Given the description of an element on the screen output the (x, y) to click on. 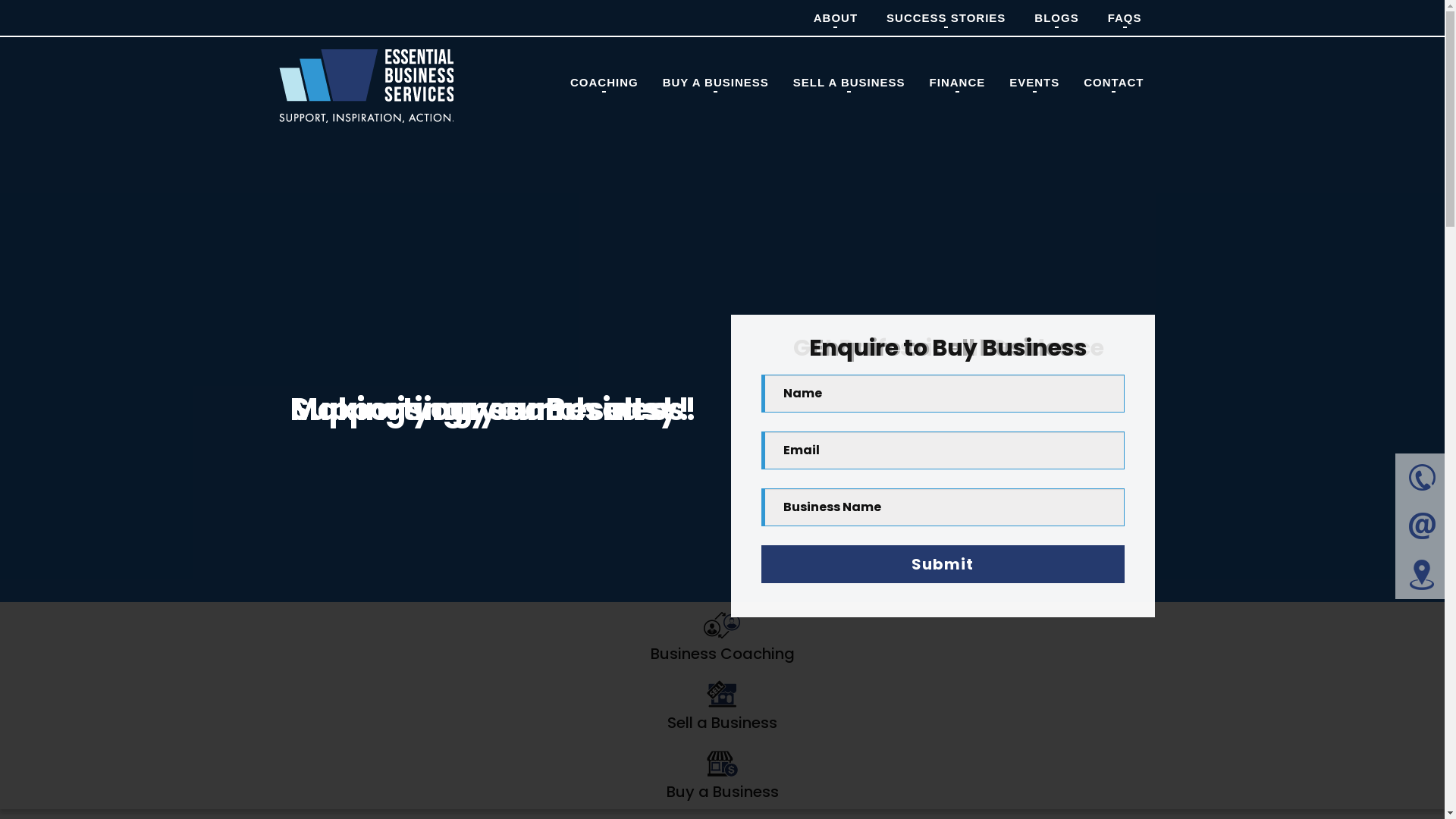
CONTACT Element type: text (1113, 82)
SUCCESS STORIES Element type: text (945, 17)
COACHING Element type: text (604, 82)
BLOGS Element type: text (1056, 17)
FAQS Element type: text (1124, 17)
ABOUT Element type: text (835, 17)
EVENTS Element type: text (1034, 82)
SELL A BUSINESS Element type: text (849, 82)
Submit Element type: text (942, 564)
BUY A BUSINESS Element type: text (715, 82)
FINANCE Element type: text (957, 82)
